Given the description of an element on the screen output the (x, y) to click on. 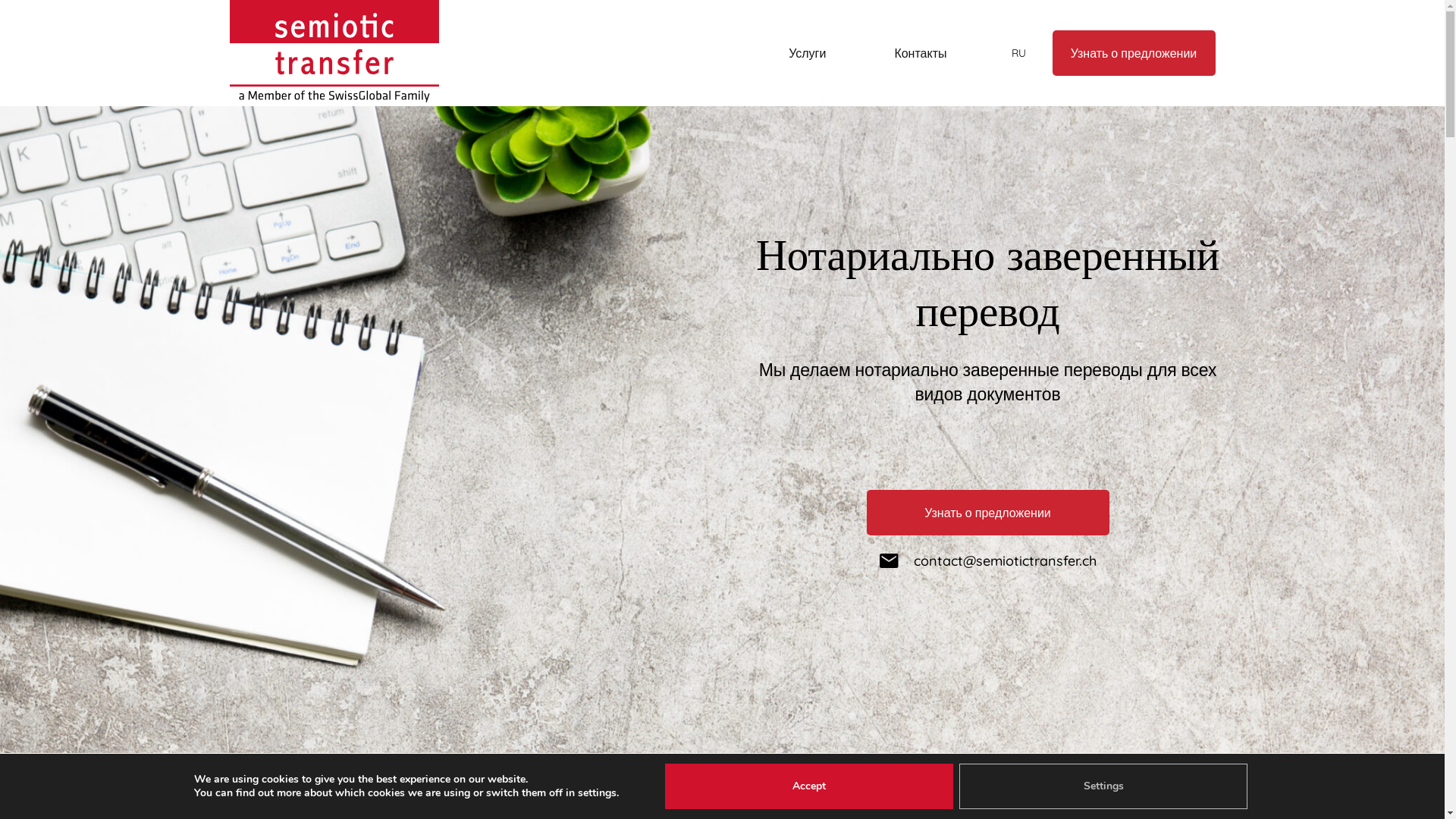
contact@semiotictransfer.ch Element type: text (987, 560)
Settings Element type: text (1103, 786)
Accept Element type: text (809, 786)
